Given the description of an element on the screen output the (x, y) to click on. 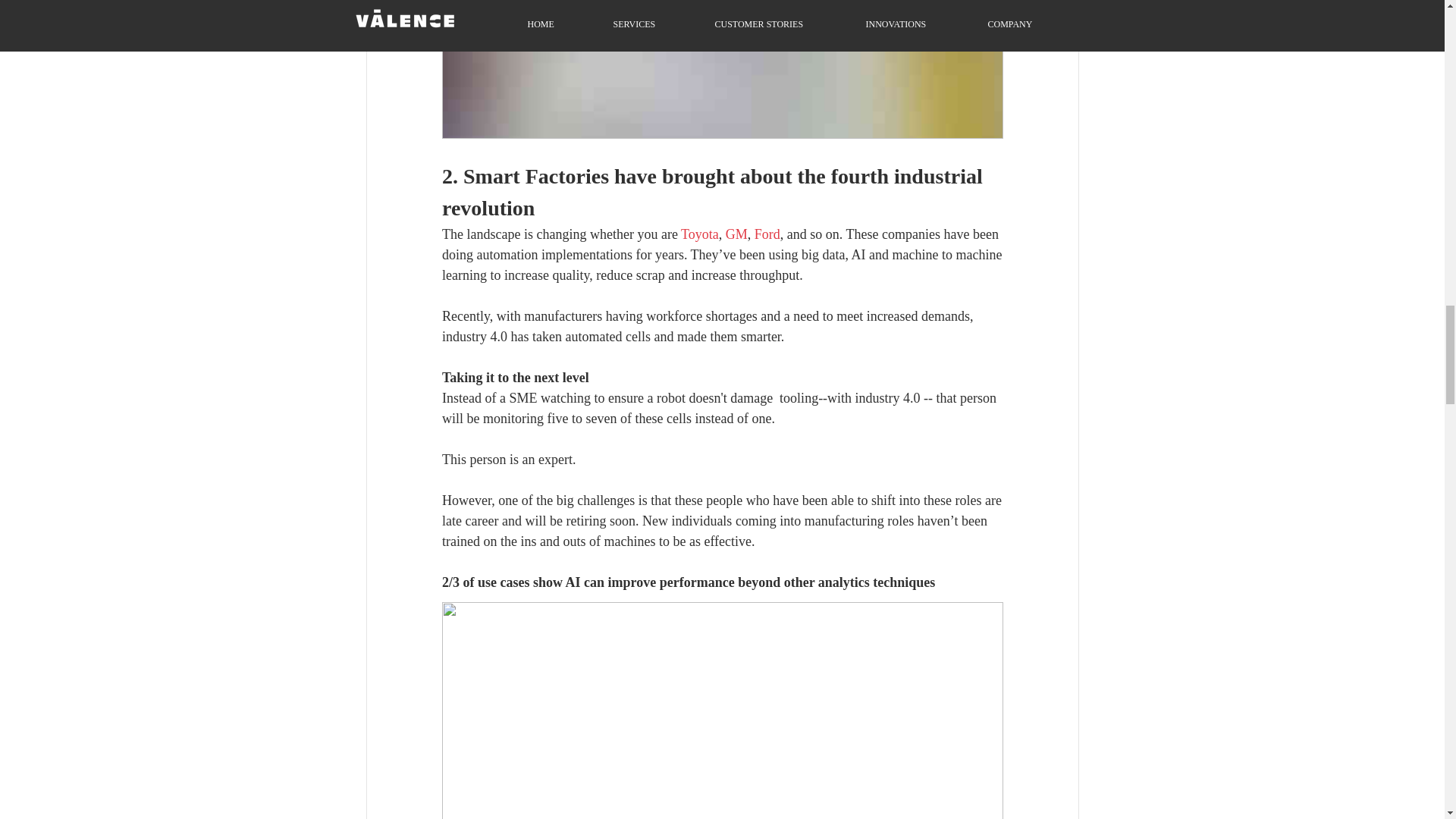
Ford (766, 233)
Toyota (700, 233)
GM (735, 233)
